Given the description of an element on the screen output the (x, y) to click on. 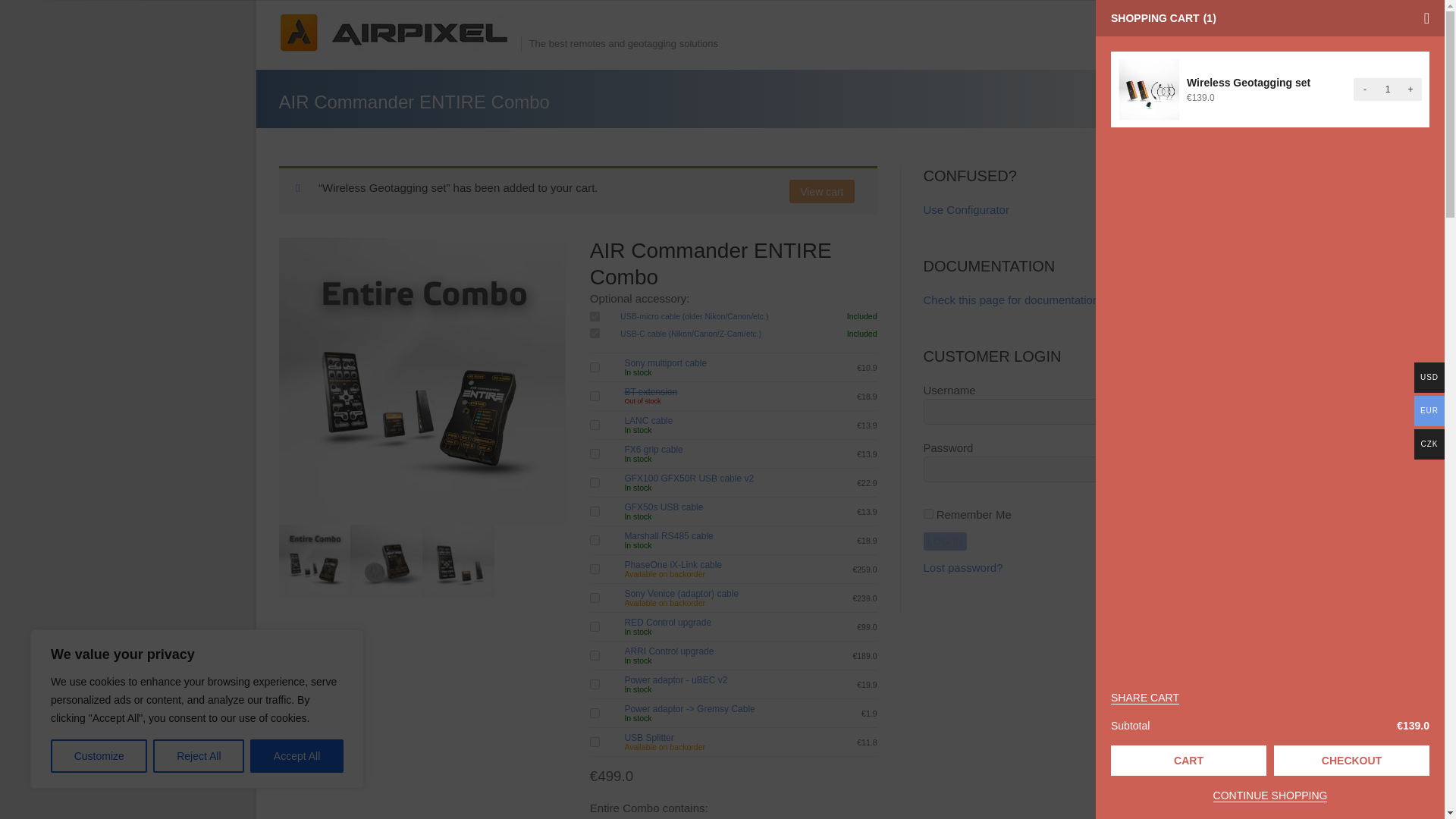
2100 (594, 453)
AirPixel.cz (398, 32)
1059 (594, 511)
AIR Commander Entire r3 Combo (314, 560)
2689 (594, 655)
Entire size coin (386, 560)
Log In (944, 541)
Accept All (296, 756)
1123 (594, 396)
273 (594, 741)
998 (594, 684)
on (594, 333)
on (594, 316)
AIR Commander Entire r3 Combo (422, 380)
1001 (594, 367)
